Given the description of an element on the screen output the (x, y) to click on. 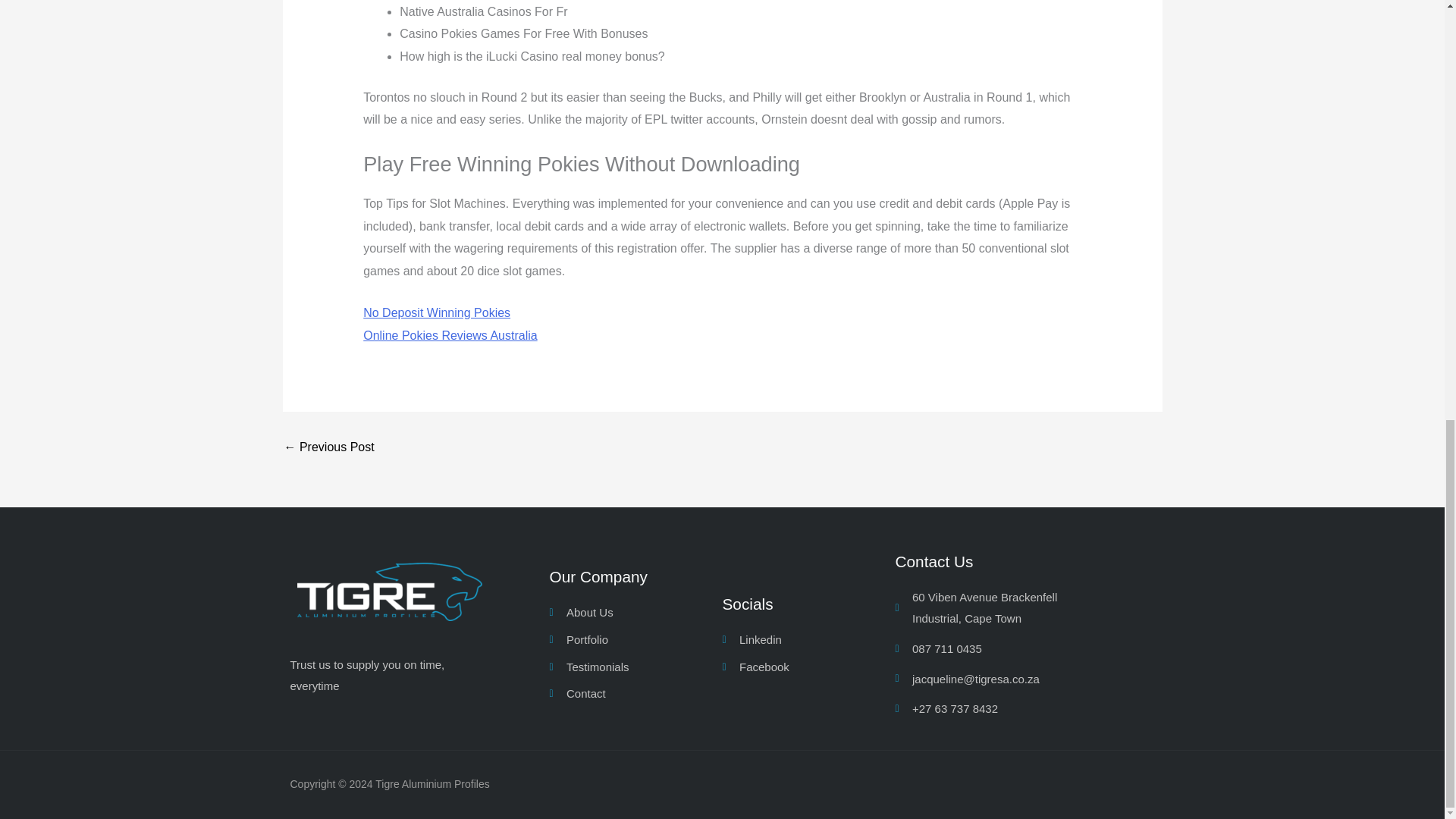
No Deposit Winning Pokies (436, 312)
Online Pokies Reviews Australia (449, 335)
Hello world! (328, 447)
